Given the description of an element on the screen output the (x, y) to click on. 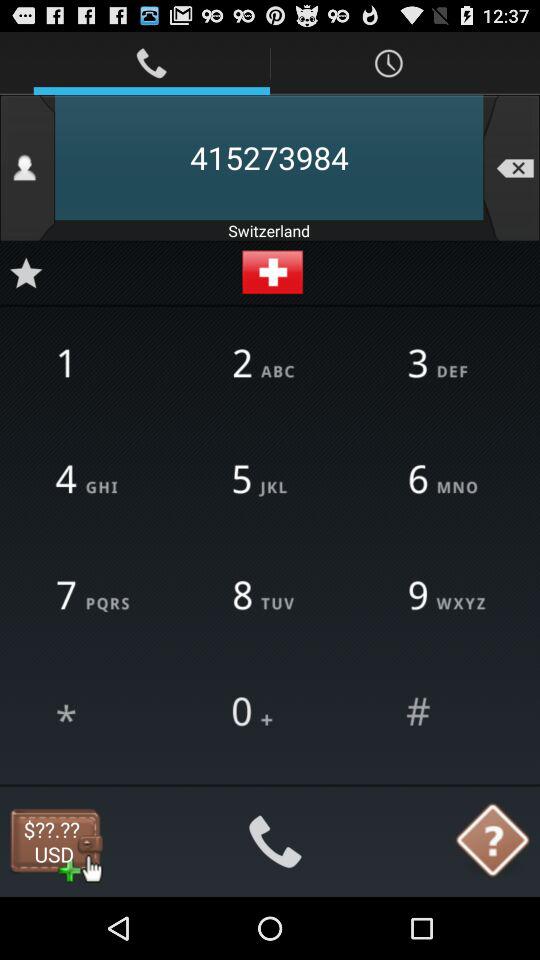
open contacts (27, 167)
